Given the description of an element on the screen output the (x, y) to click on. 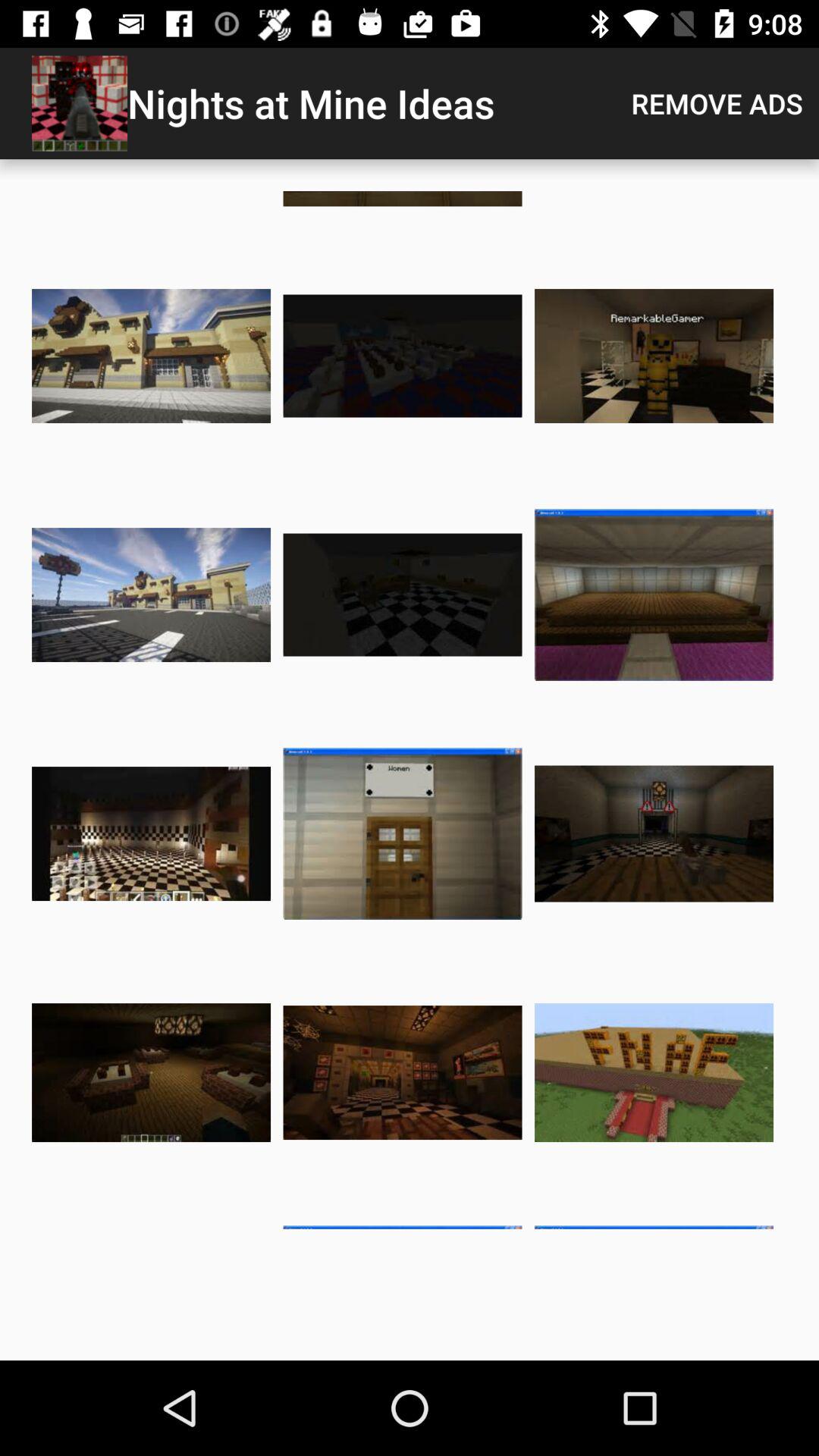
click app to the right of the nights at mine item (717, 103)
